Given the description of an element on the screen output the (x, y) to click on. 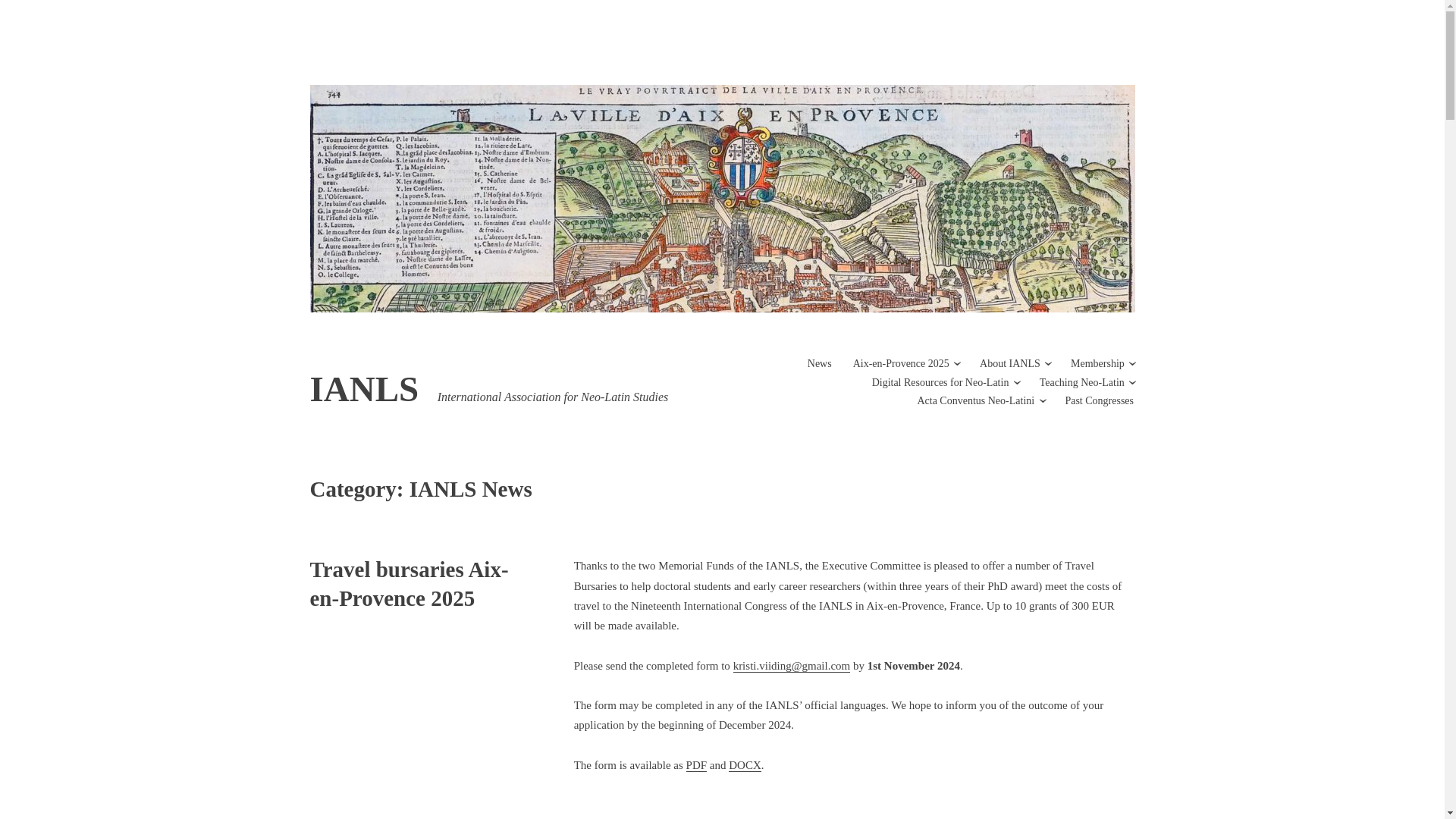
Travel bursaries Aix-en-Provence 2025 (408, 583)
Acta Conventus Neo-Latini (975, 400)
About IANLS (1010, 363)
Aix-en-Provence 2025 (901, 363)
News (819, 363)
IANLS (363, 388)
Membership (1097, 363)
DOCX (745, 765)
Past Congresses (1099, 400)
